Given the description of an element on the screen output the (x, y) to click on. 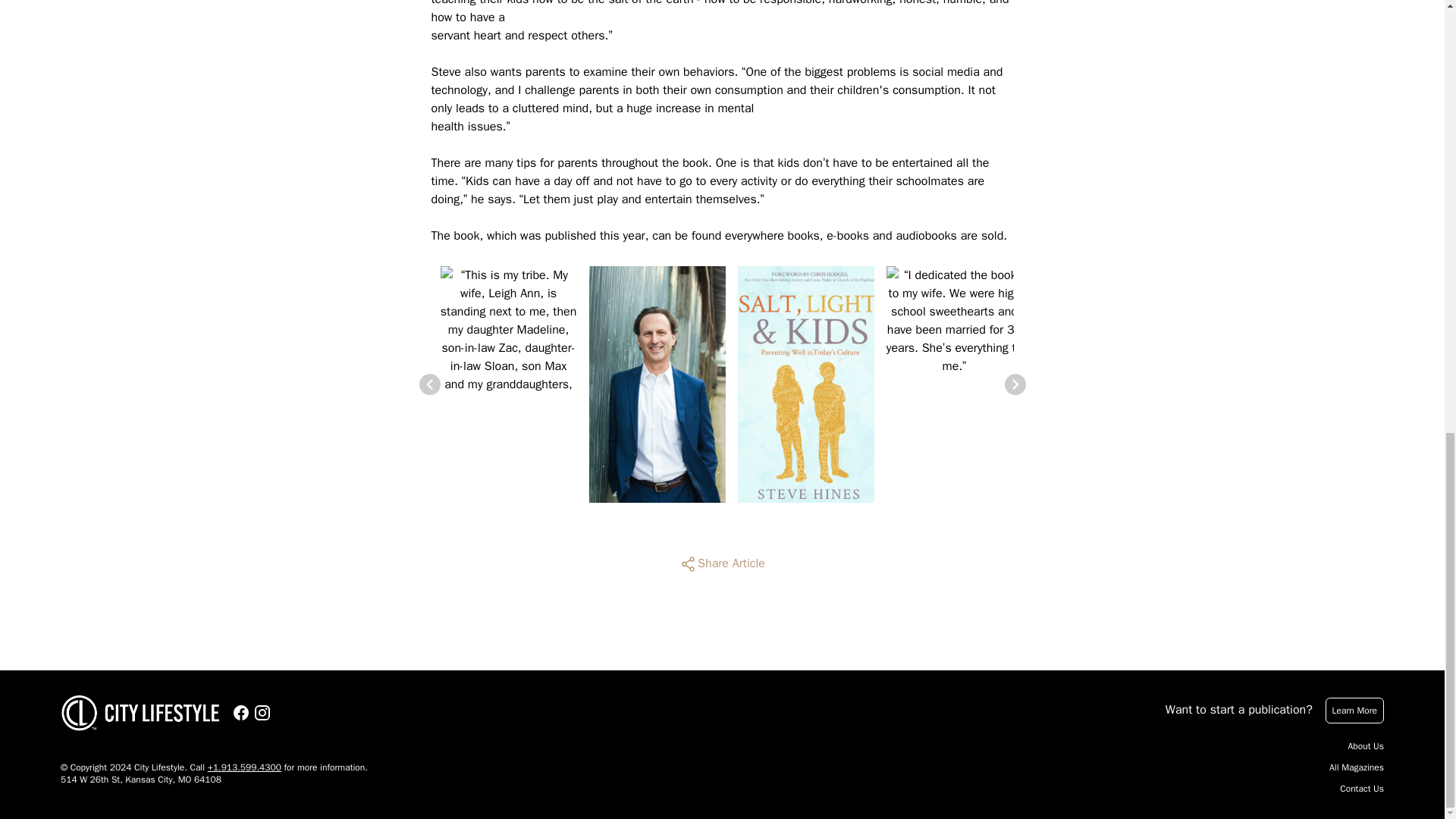
All Magazines (1356, 767)
Learn More (1354, 710)
About Us (1366, 746)
Share Article (722, 563)
Contact Us (1361, 788)
